Given the description of an element on the screen output the (x, y) to click on. 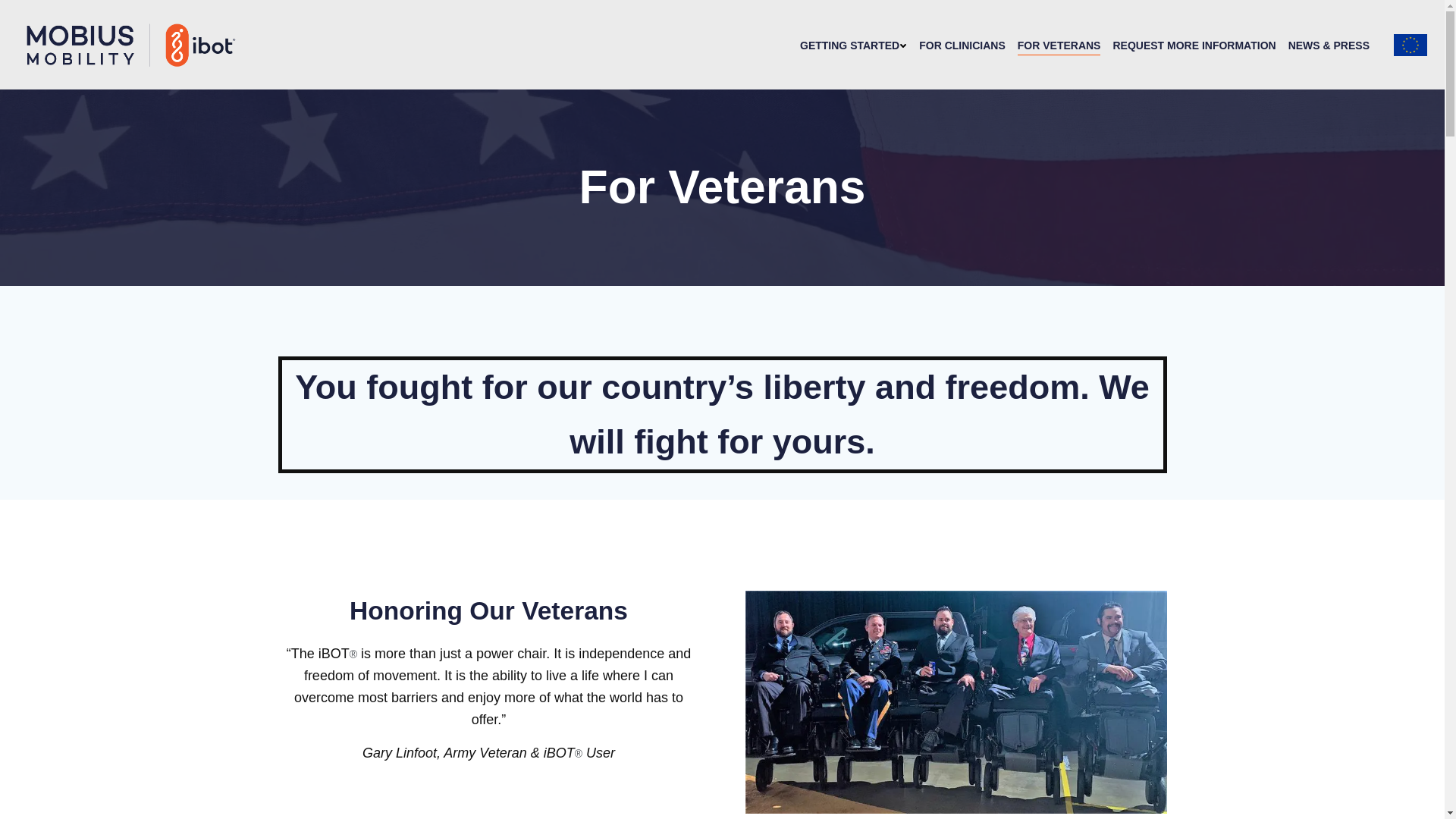
FOR CLINICIANS (962, 45)
GETTING STARTED (853, 45)
REQUEST MORE INFORMATION (1193, 45)
FOR VETERANS (1058, 45)
